Given the description of an element on the screen output the (x, y) to click on. 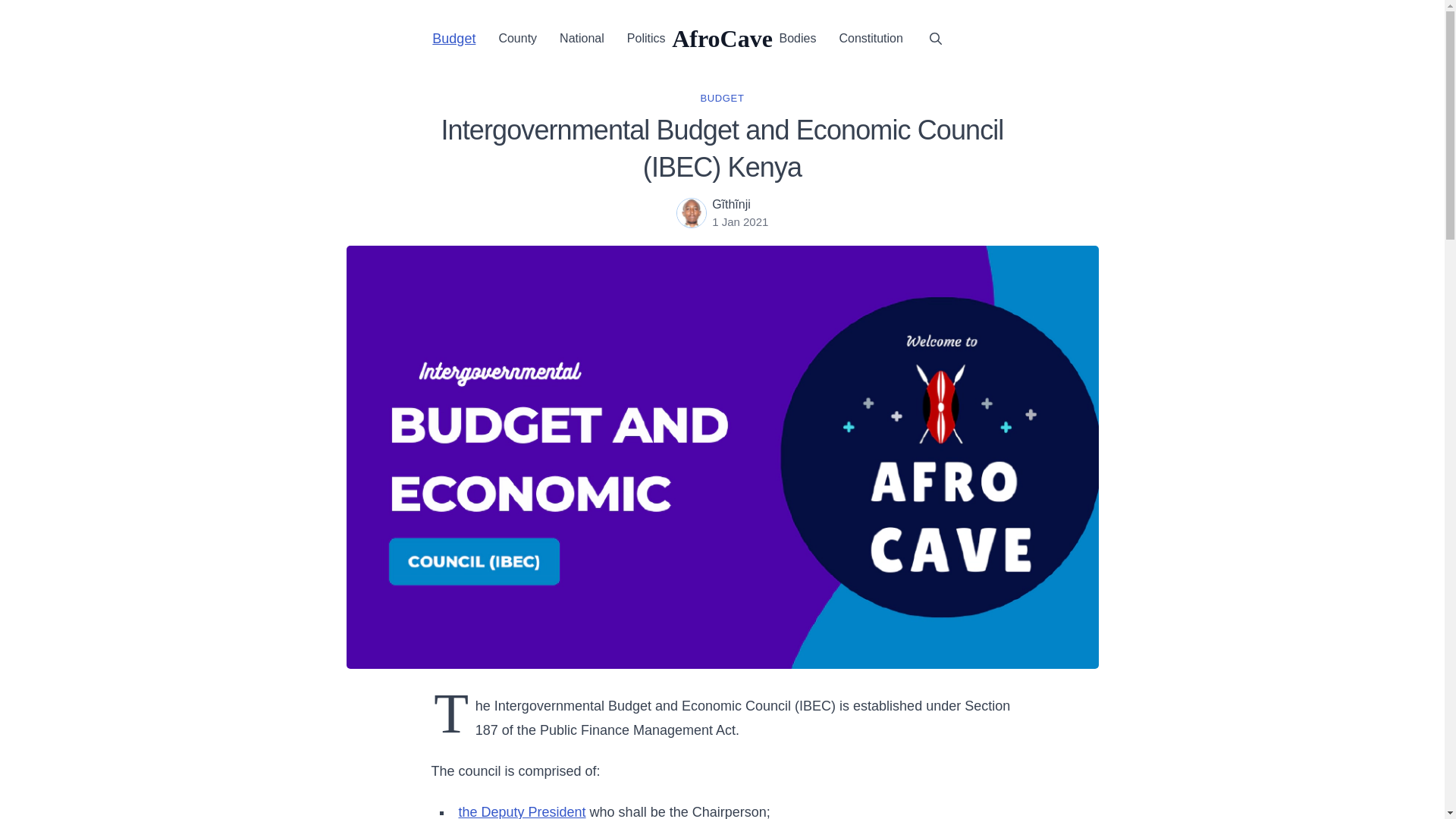
Constitution (870, 38)
Bodies (797, 38)
National (581, 38)
the Deputy President (521, 811)
County (517, 38)
Search (935, 37)
AfroCave (722, 37)
Politics (646, 38)
Budget (454, 37)
